Given the description of an element on the screen output the (x, y) to click on. 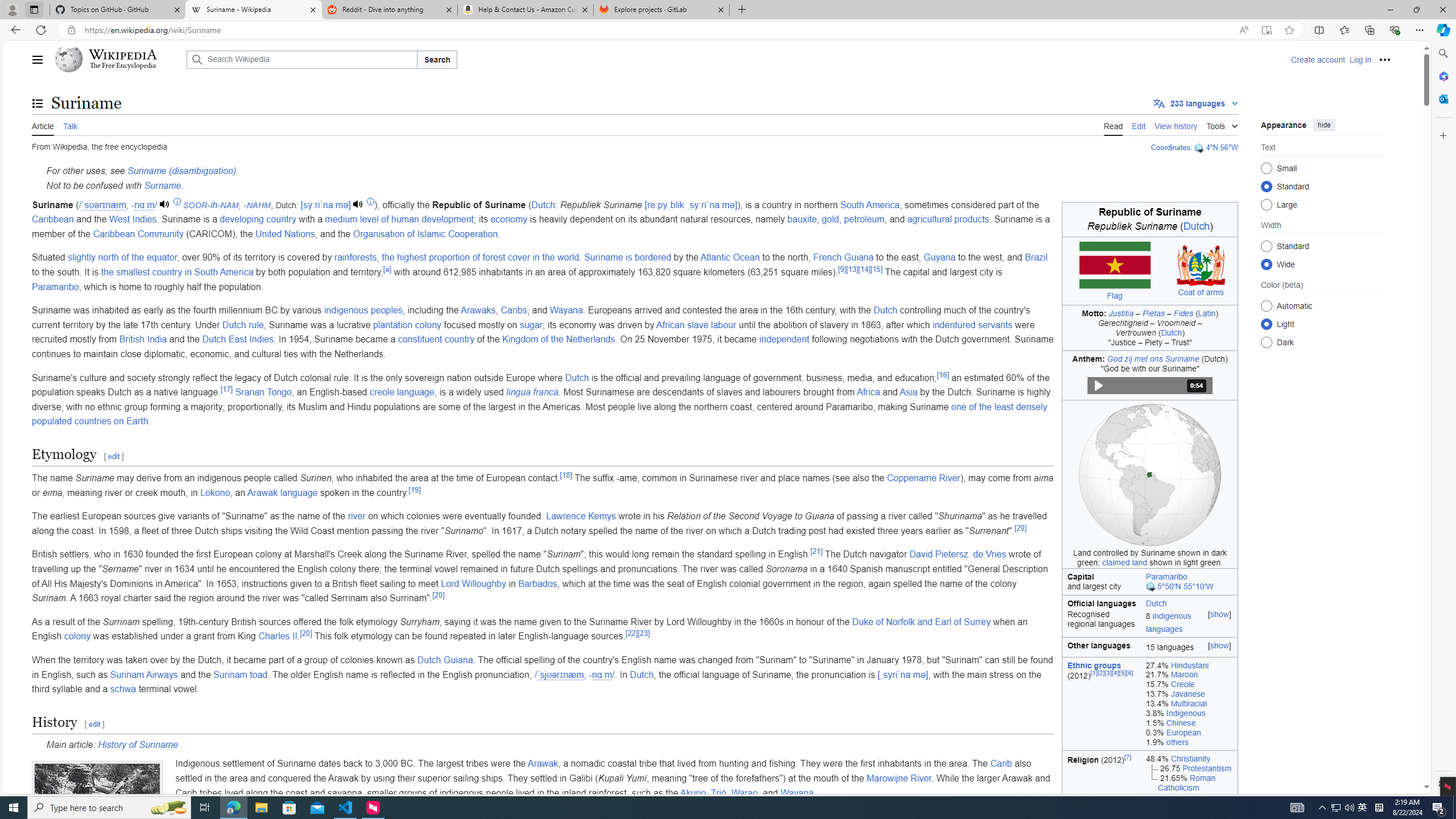
Coat of arms (1200, 291)
Javanese (1187, 693)
[1] (1093, 672)
one of the least densely populated countries on Earth (540, 413)
[19] (413, 488)
Suriname is bordered (627, 257)
Coat of arms of Suriname (1200, 264)
colony (77, 636)
Log in (1360, 58)
Wayana (796, 792)
Caribbean Community (138, 233)
